Given the description of an element on the screen output the (x, y) to click on. 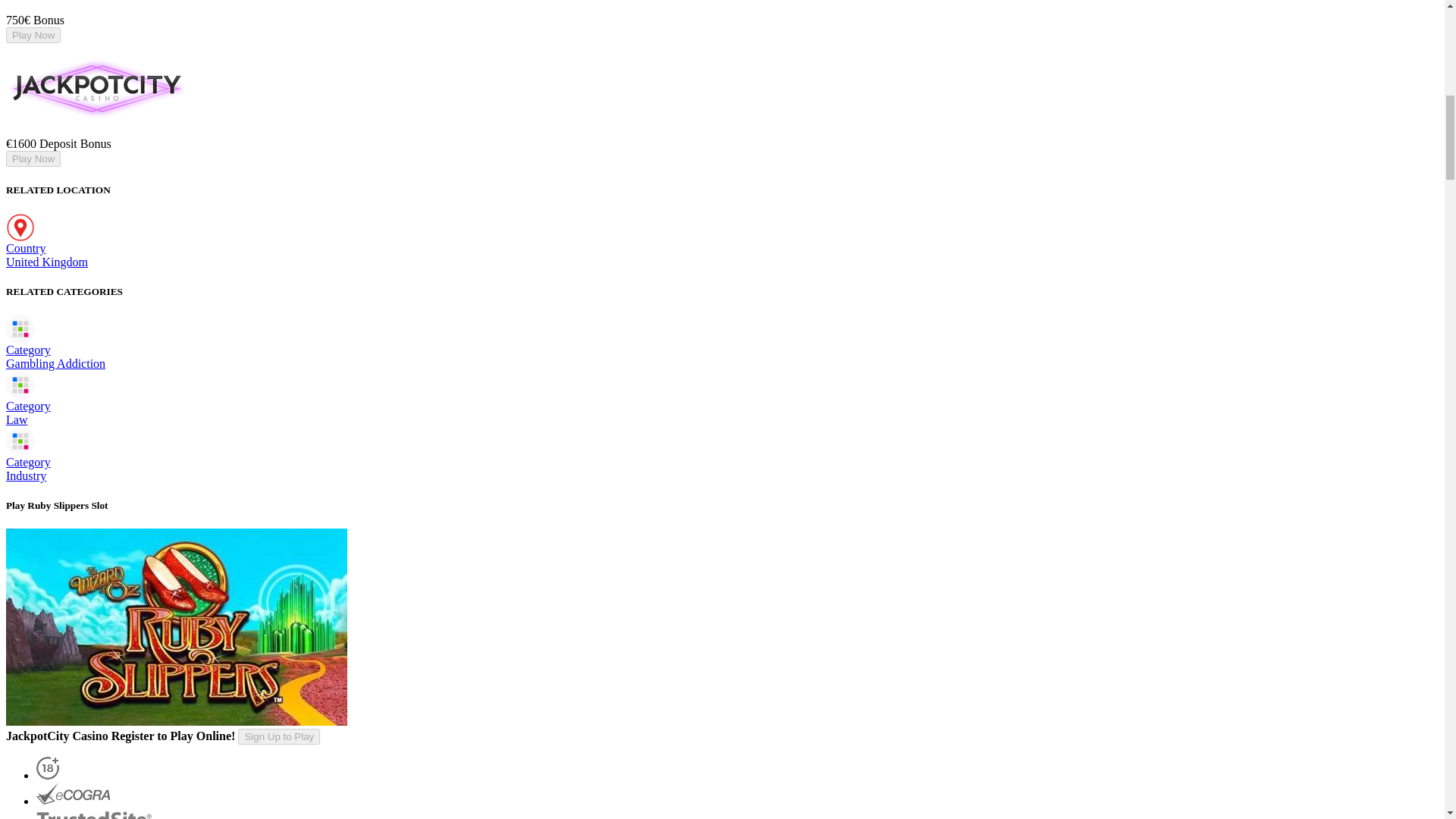
Play Now (33, 158)
Play Now (33, 35)
Slot Game of the Month: Ruby Slippers Slot (176, 626)
